Given the description of an element on the screen output the (x, y) to click on. 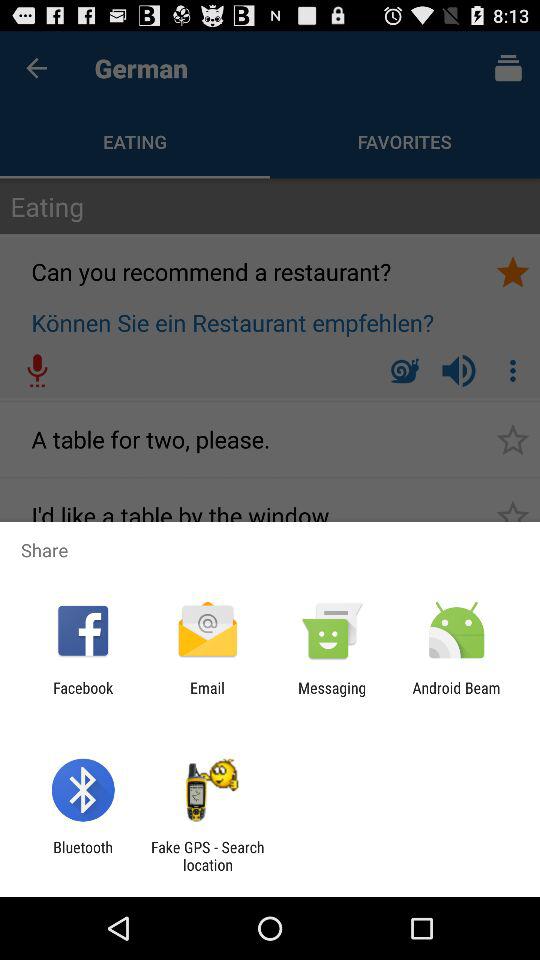
scroll to android beam item (456, 696)
